Given the description of an element on the screen output the (x, y) to click on. 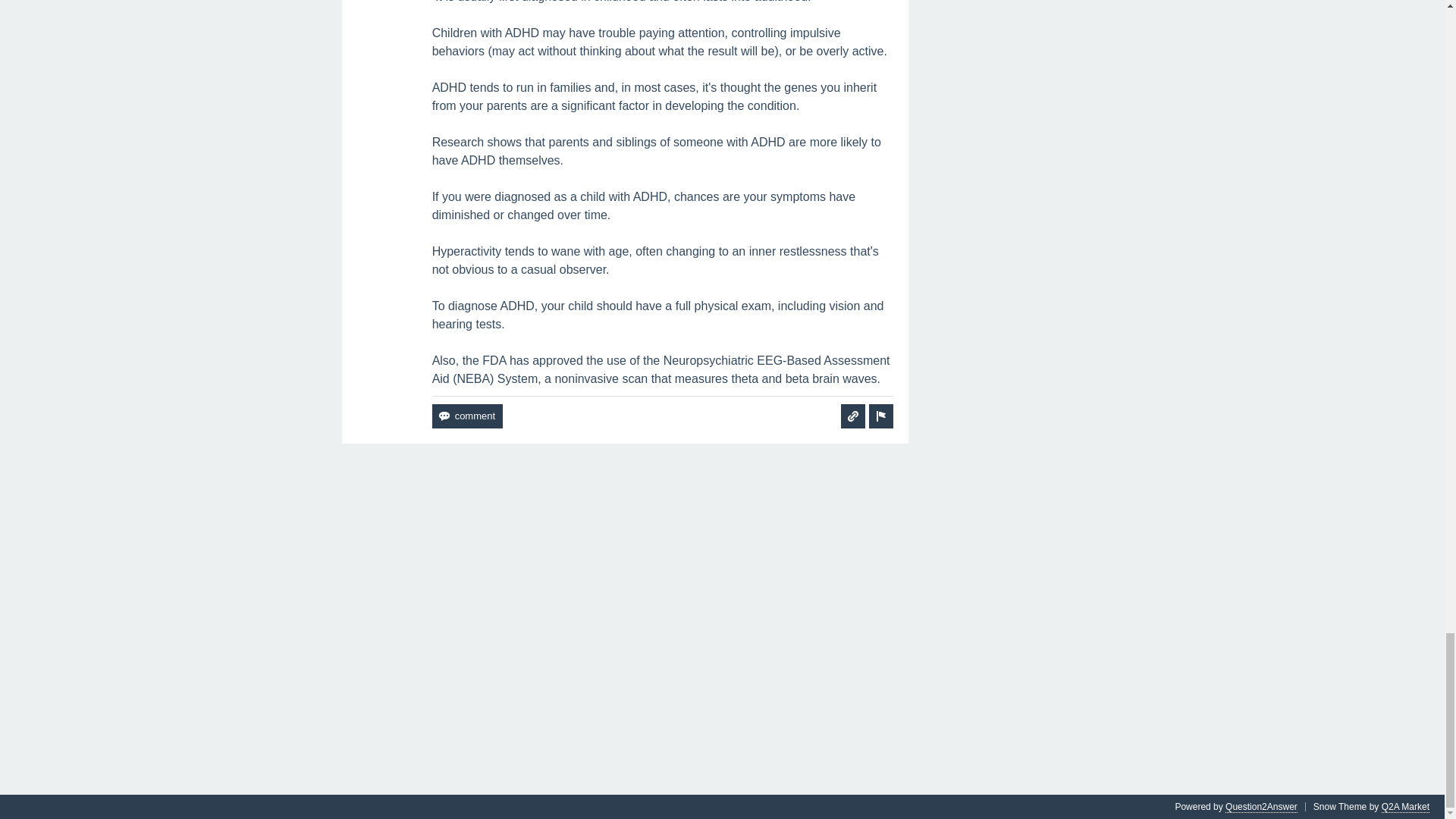
ask related question (852, 416)
comment (467, 416)
comment (467, 416)
Add a comment on this answer (467, 416)
flag (881, 416)
ask related question (852, 416)
flag (881, 416)
Flag this answer as spam or inappropriate (881, 416)
Ask a new question relating to this answer (852, 416)
